Given the description of an element on the screen output the (x, y) to click on. 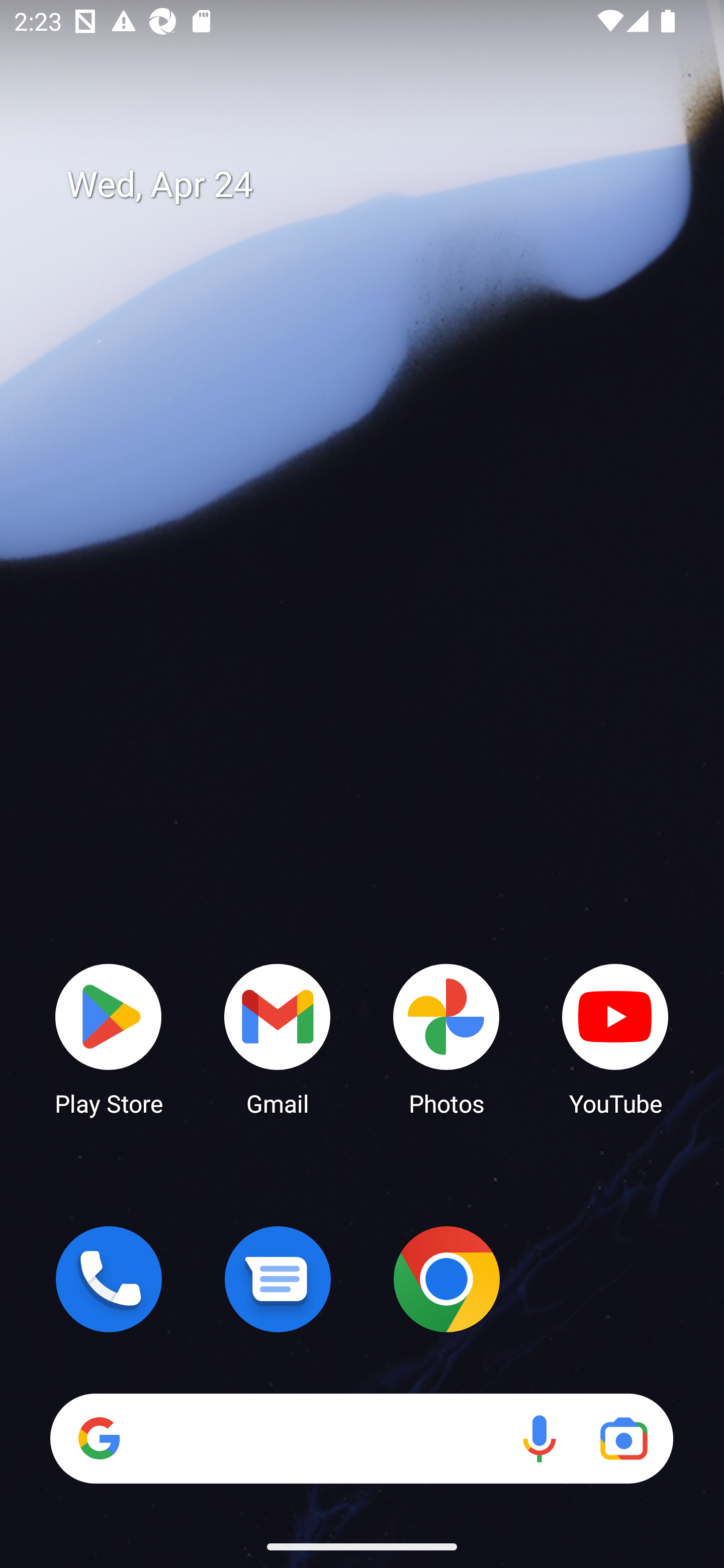
Wed, Apr 24 (375, 184)
Play Store (108, 1038)
Gmail (277, 1038)
Photos (445, 1038)
YouTube (615, 1038)
Phone (108, 1279)
Messages (277, 1279)
Chrome (446, 1279)
Search Voice search Google Lens (361, 1438)
Voice search (539, 1438)
Google Lens (623, 1438)
